Given the description of an element on the screen output the (x, y) to click on. 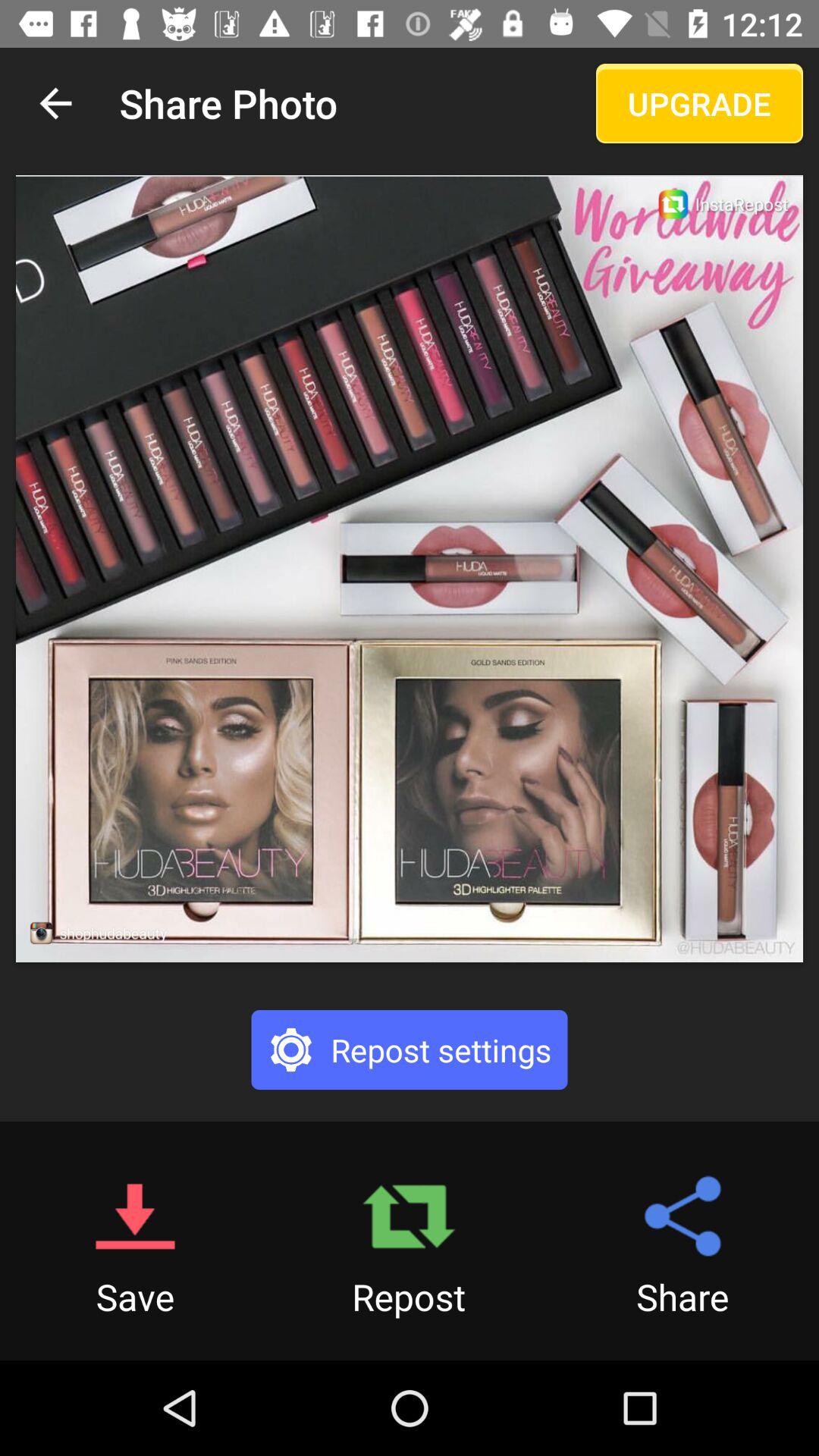
jump to upgrade (699, 103)
